Given the description of an element on the screen output the (x, y) to click on. 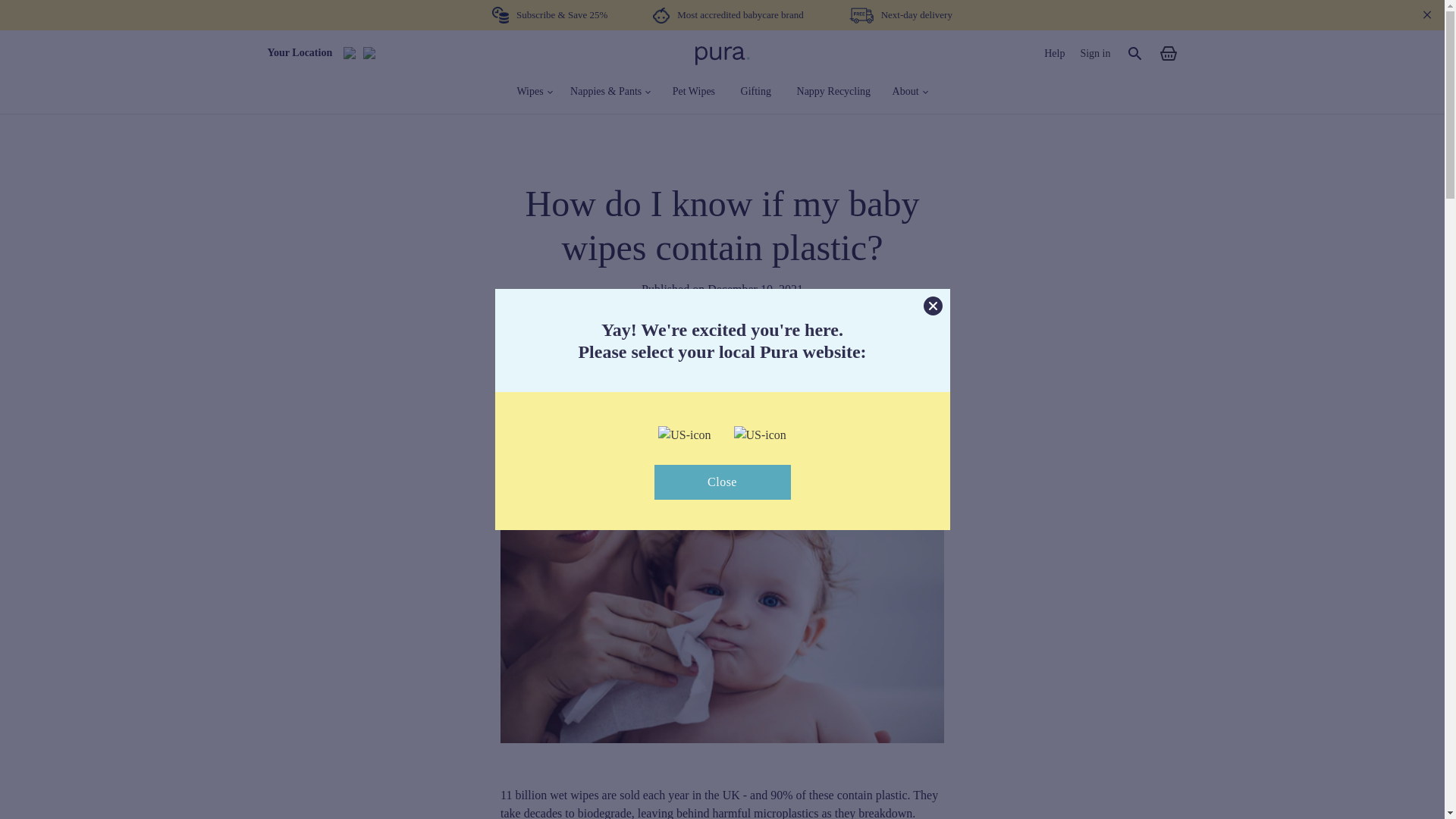
Help (1053, 52)
Basket (1159, 53)
Search (1125, 53)
MyPura (721, 55)
Sign in (1086, 53)
